Given the description of an element on the screen output the (x, y) to click on. 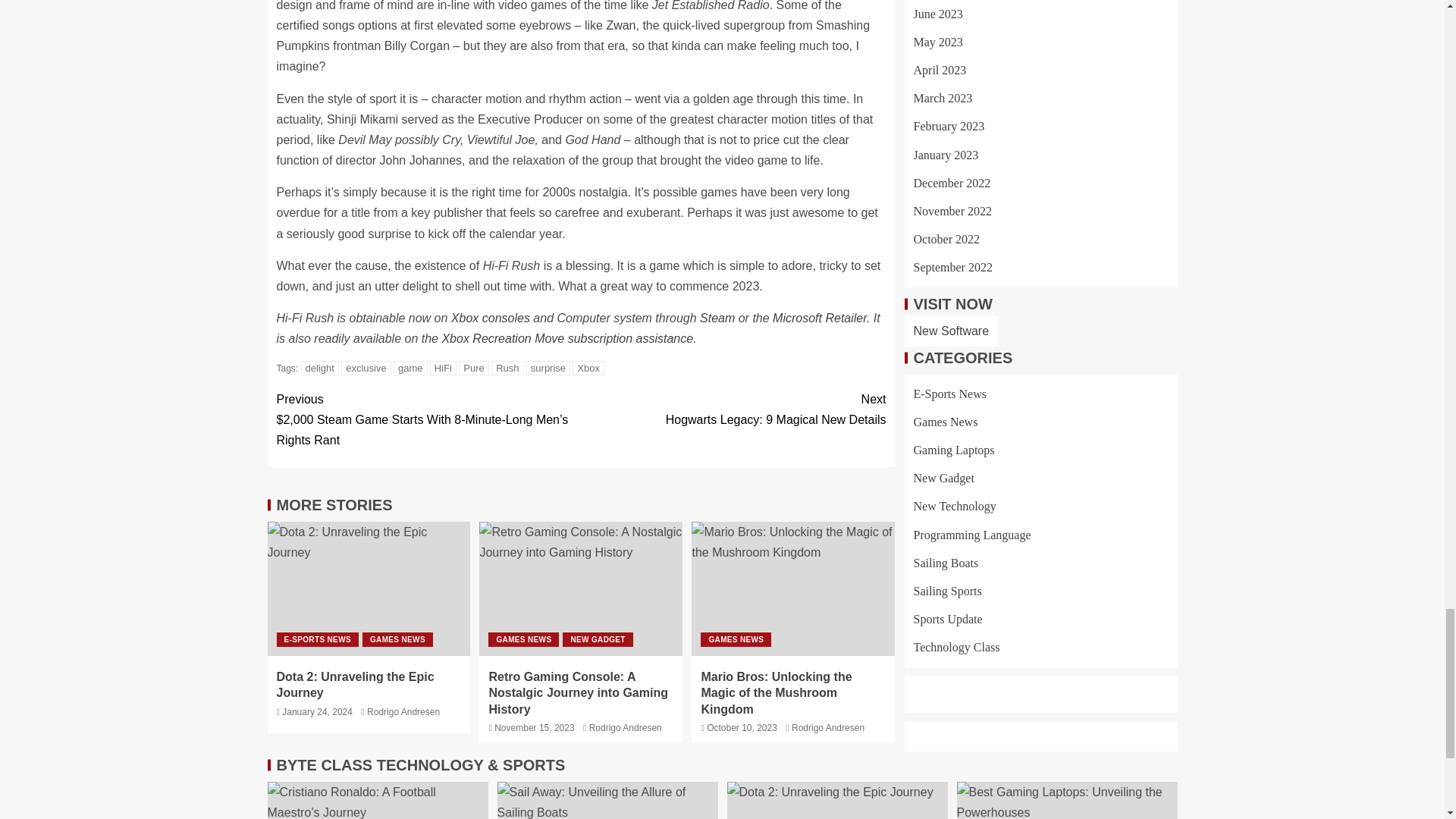
Best Gaming Laptops: Unveiling the Powerhouses (1066, 800)
surprise (547, 368)
Xbox (588, 368)
HiFi (443, 368)
Sail Away: Unveiling the Allure of Sailing Boats (607, 800)
Pure (472, 368)
Xbox Recreation Move subscription assistance (567, 338)
Rush (507, 368)
Microsoft Retailer (819, 318)
Steam (717, 318)
Dota 2: Unraveling the Epic Journey (836, 800)
exclusive (365, 368)
Zwan (619, 24)
Dota 2: Unraveling the Epic Journey (368, 588)
